Given the description of an element on the screen output the (x, y) to click on. 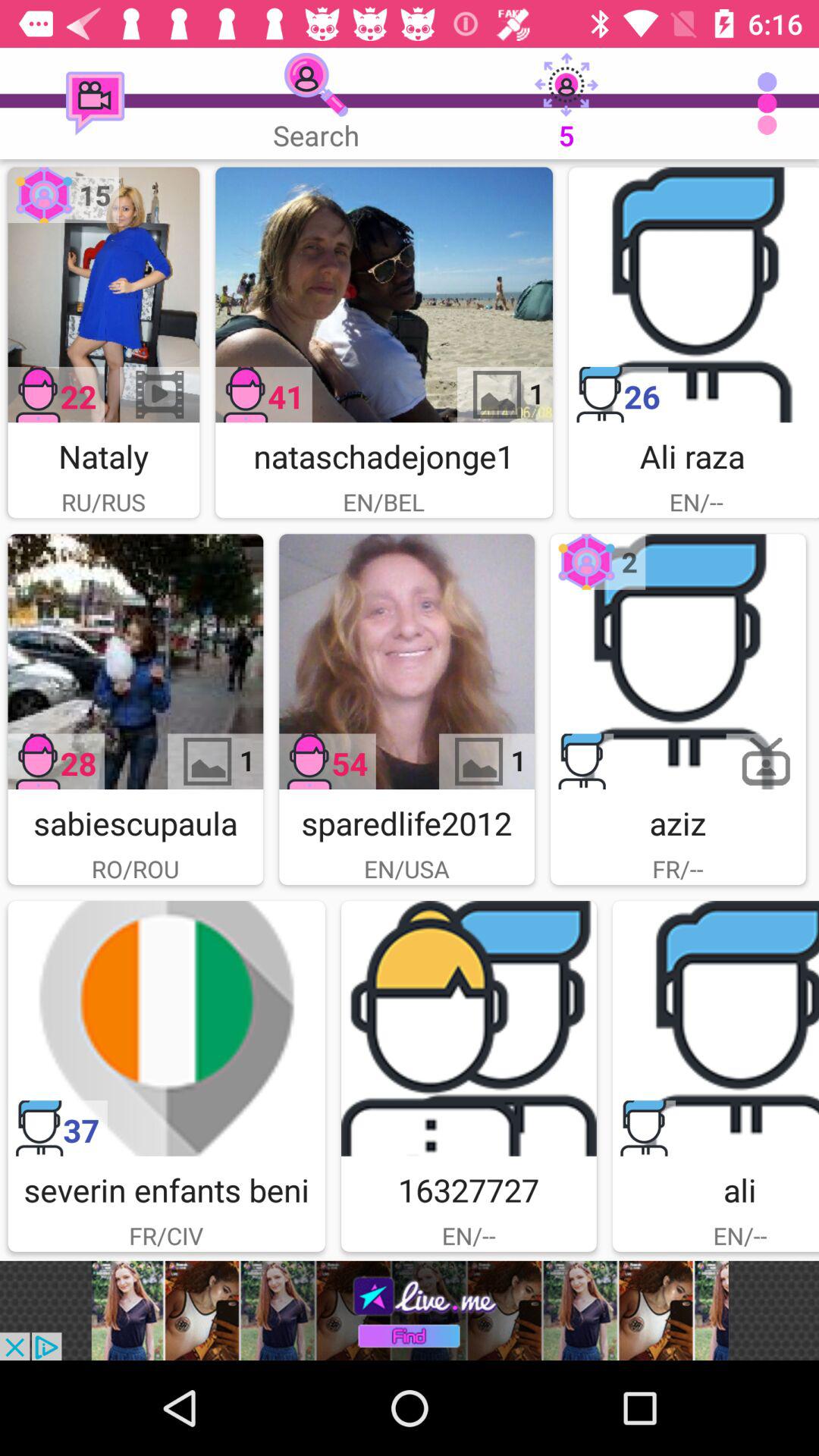
open picture (103, 294)
